Given the description of an element on the screen output the (x, y) to click on. 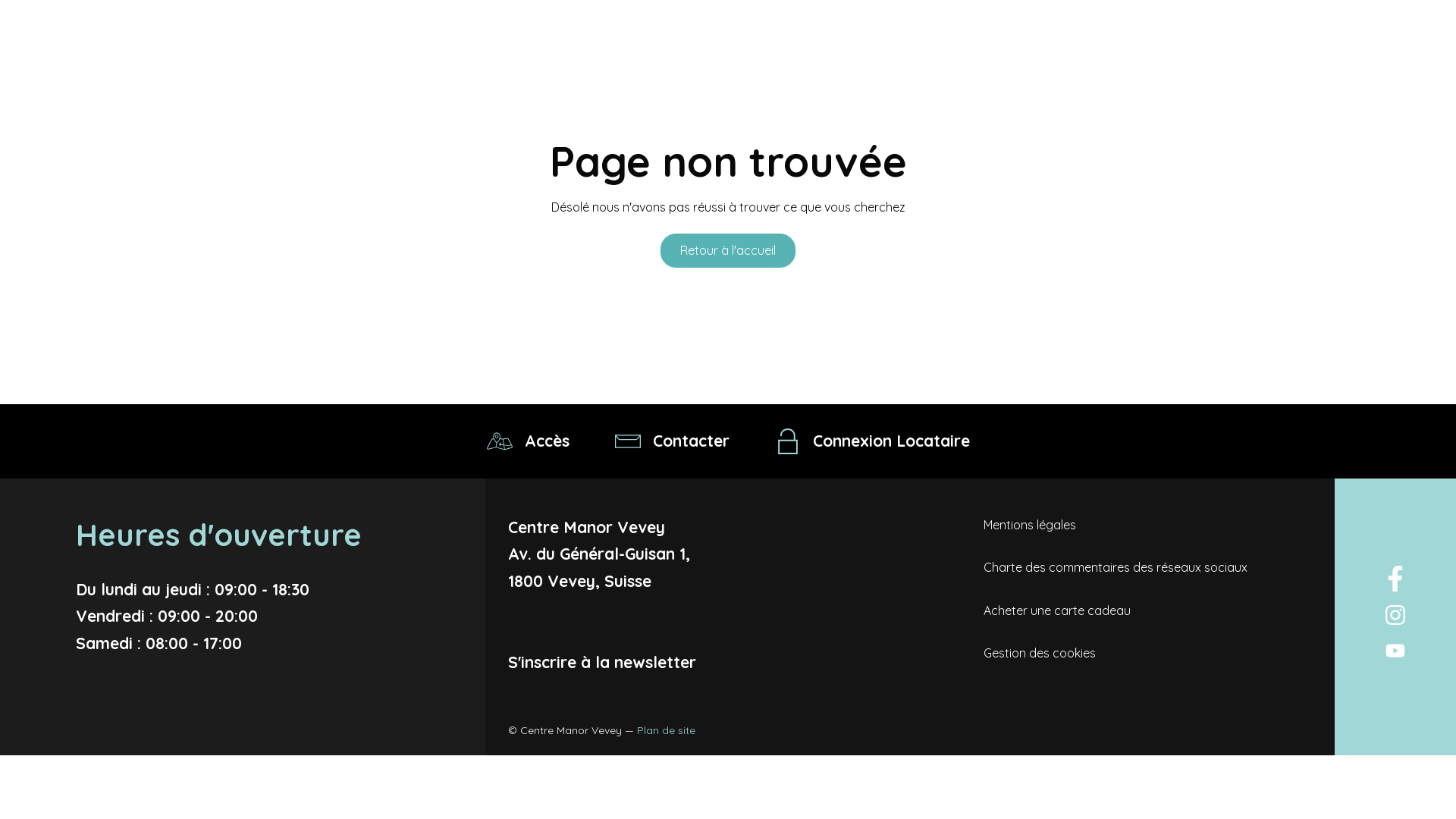
Connexion Locataire Element type: text (872, 441)
Plan de site Element type: text (666, 730)
Contacter Element type: text (671, 441)
Gestion des cookies Element type: text (1039, 652)
Acheter une carte cadeau Element type: text (1056, 610)
